Given the description of an element on the screen output the (x, y) to click on. 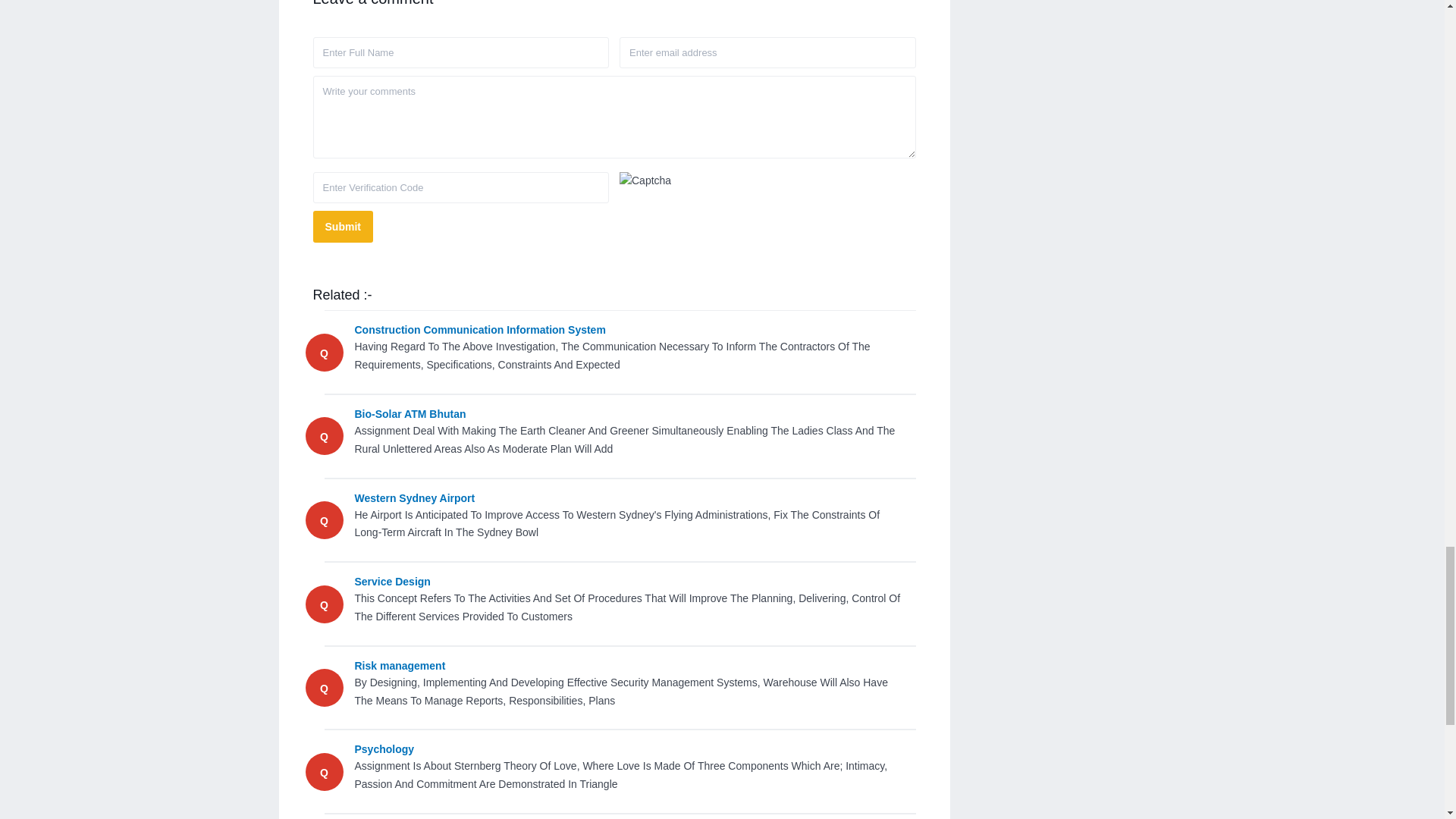
Q (323, 688)
Psychology (628, 749)
Q (323, 604)
Q (323, 436)
Bio-Solar ATM Bhutan (628, 414)
Q (323, 521)
Q (323, 353)
Submit (342, 226)
Construction Communication Information System (628, 330)
Western Sydney Airport (628, 498)
